Given the description of an element on the screen output the (x, y) to click on. 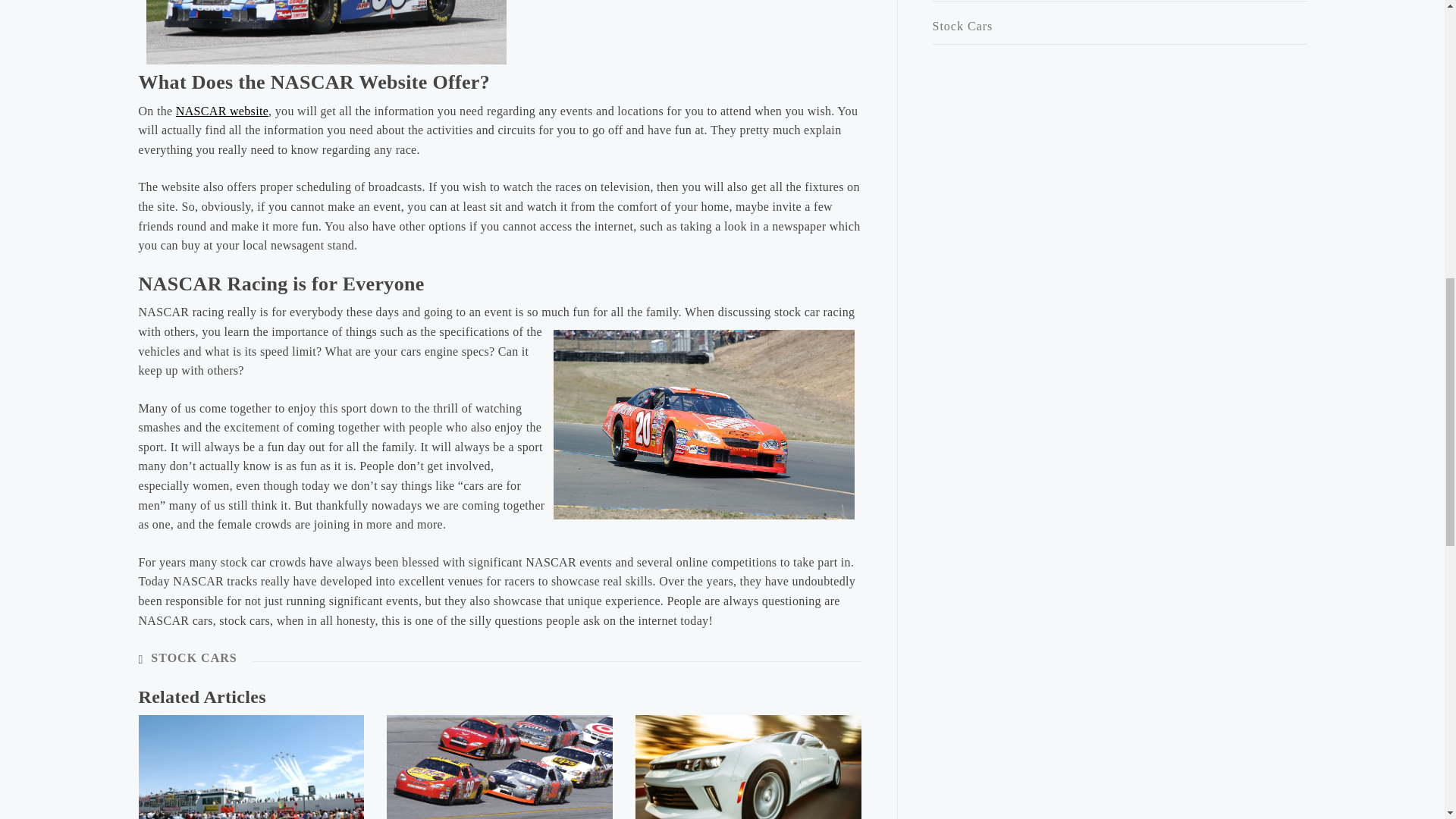
Stock Cars (1119, 27)
STOCK CARS (193, 657)
NASCAR website (221, 110)
